Given the description of an element on the screen output the (x, y) to click on. 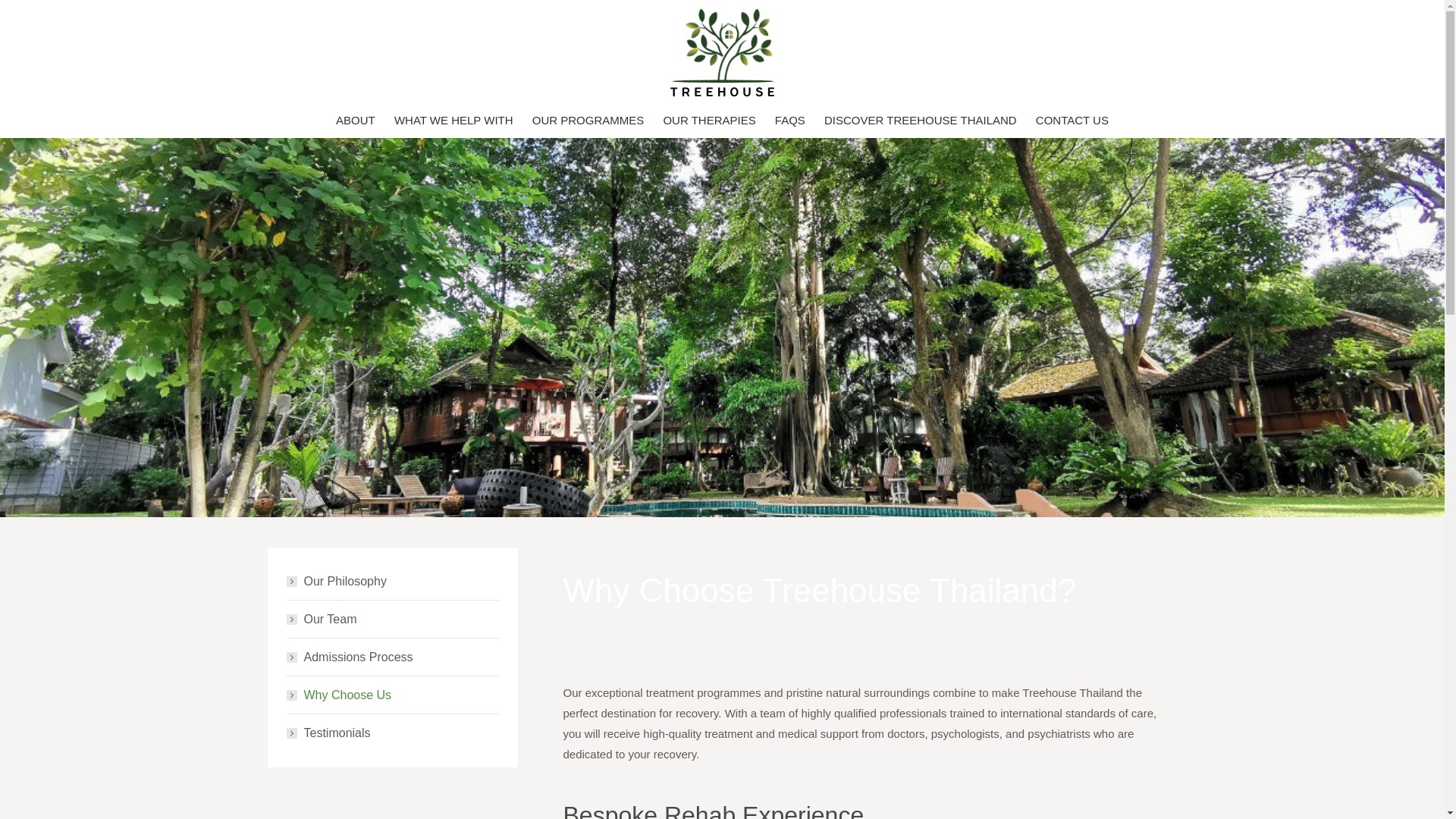
CONTACT US (1072, 119)
ABOUT (354, 119)
DISCOVER TREEHOUSE THAILAND (920, 119)
OUR THERAPIES (708, 119)
WHAT WE HELP WITH (453, 119)
OUR PROGRAMMES (587, 119)
FAQS (789, 119)
